Given the description of an element on the screen output the (x, y) to click on. 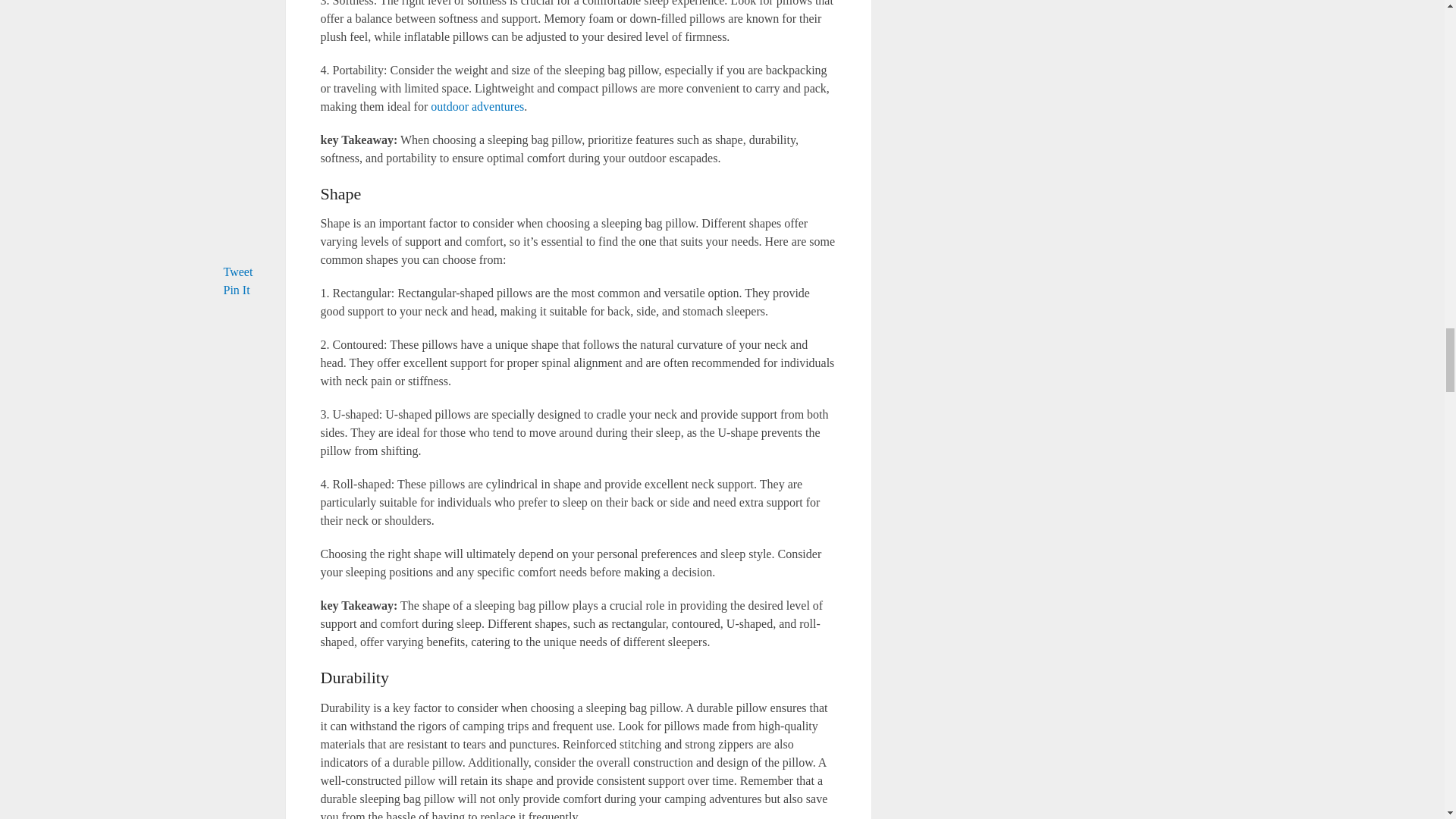
outdoor adventures (477, 106)
